Given the description of an element on the screen output the (x, y) to click on. 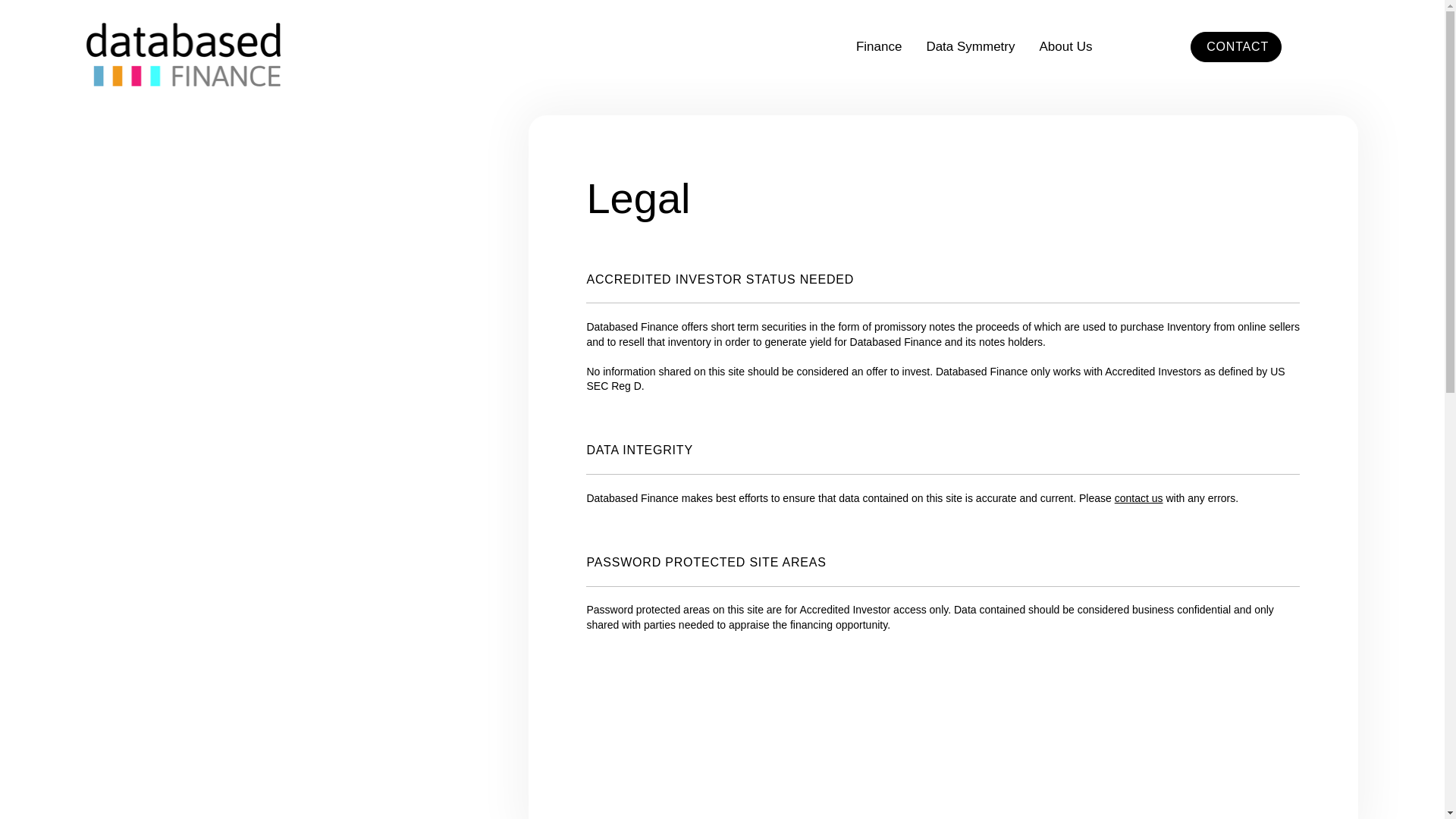
About Us (1066, 46)
contact us (1139, 498)
Finance (878, 46)
Data Symmetry (970, 46)
CONTACT (1236, 46)
